Given the description of an element on the screen output the (x, y) to click on. 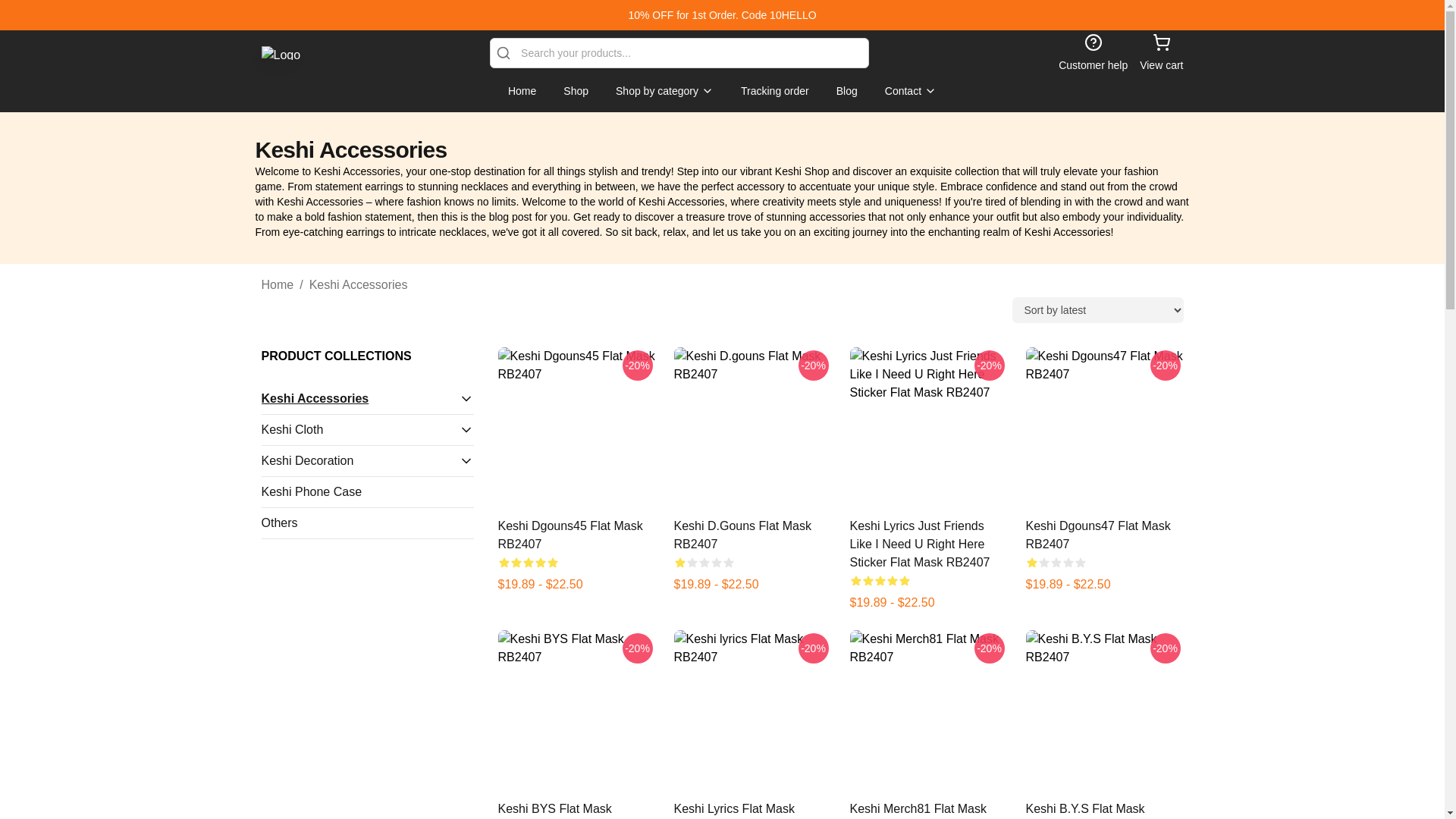
Home (522, 91)
Shop (575, 91)
view cart (1161, 52)
Keshi Cloth (359, 429)
Tracking order (775, 91)
Keshi Accessories (357, 285)
customer help (1092, 52)
Customer help (1092, 52)
Blog (846, 91)
Keshi Accessories (359, 398)
